Given the description of an element on the screen output the (x, y) to click on. 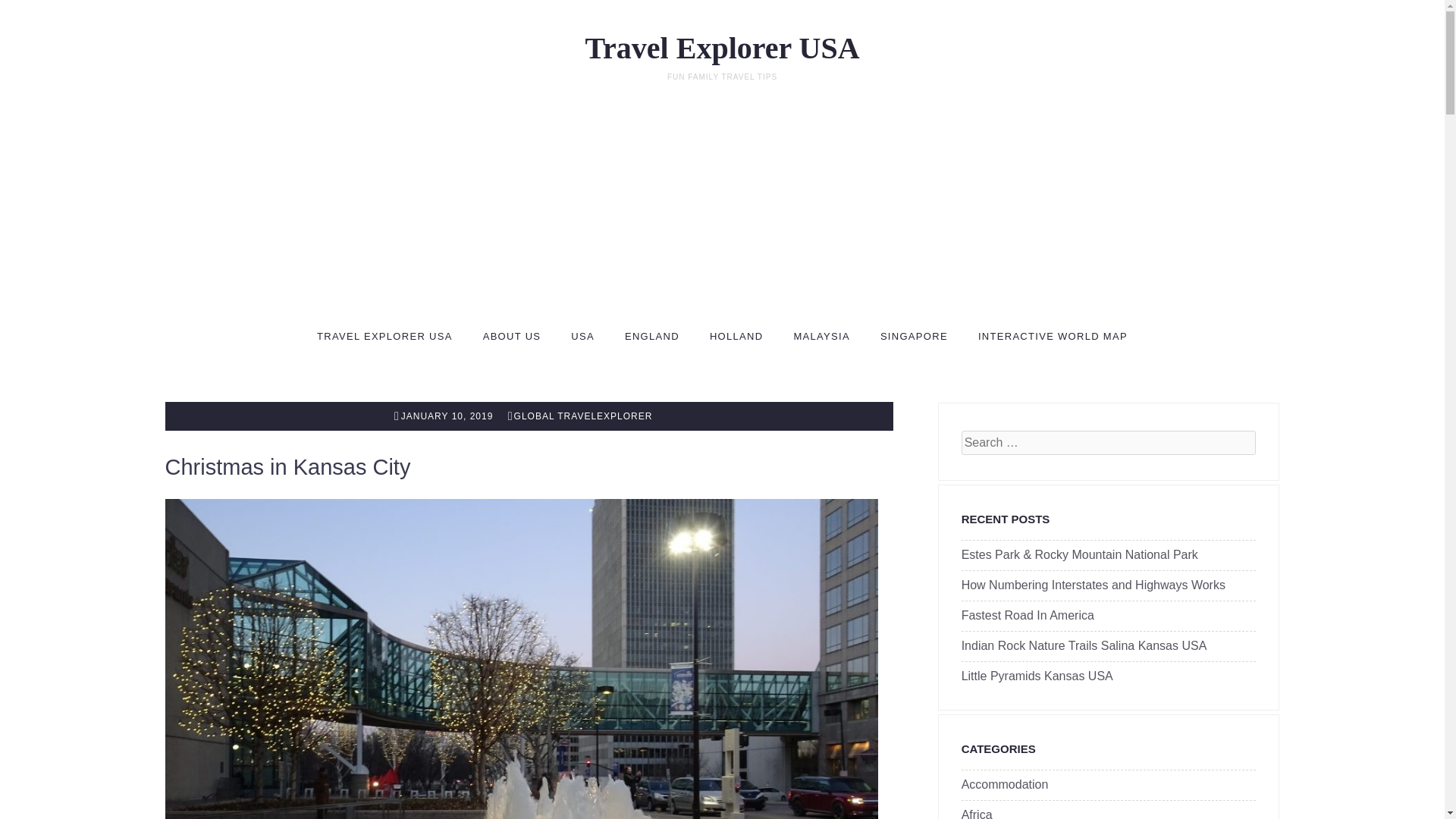
ENGLAND (651, 337)
2:28 pm (443, 417)
Fastest Road In America (1027, 616)
Search (33, 12)
Accommodation (1004, 785)
JANUARY 10, 2019 (443, 417)
INTERACTIVE WORLD MAP (1052, 337)
GLOBAL TRAVELEXPLORER (580, 417)
Little Pyramids Kansas USA (1036, 676)
TRAVEL EXPLORER USA (384, 337)
Travel Explorer USA (722, 48)
Africa (976, 813)
SINGAPORE (913, 337)
ABOUT US (512, 337)
How Numbering Interstates and Highways Works (1092, 585)
